Given the description of an element on the screen output the (x, y) to click on. 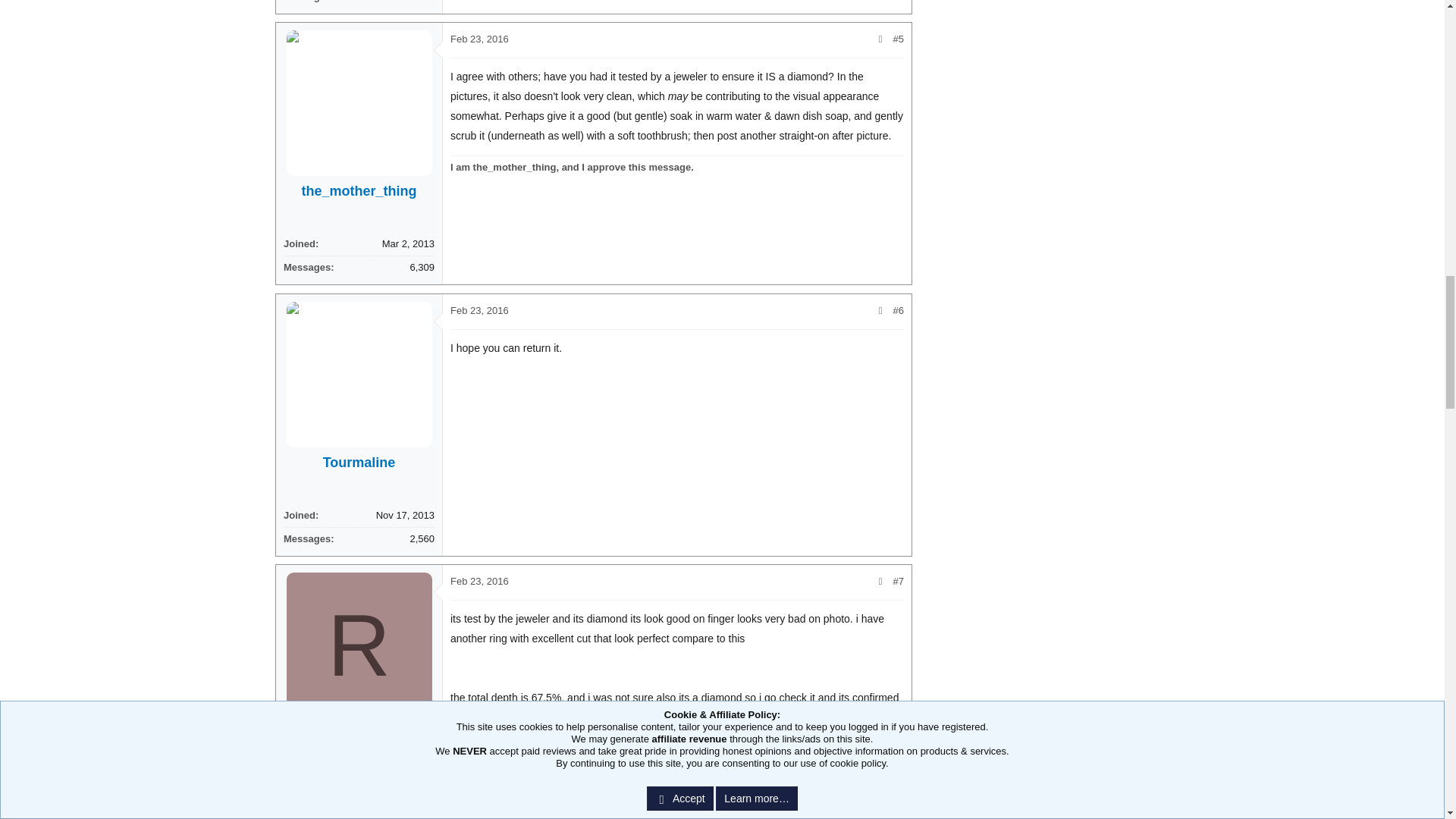
Feb 23, 2016 at 8:01 AM (478, 310)
Feb 23, 2016 at 8:02 AM (478, 581)
Feb 23, 2016 at 7:56 AM (478, 39)
